Given the description of an element on the screen output the (x, y) to click on. 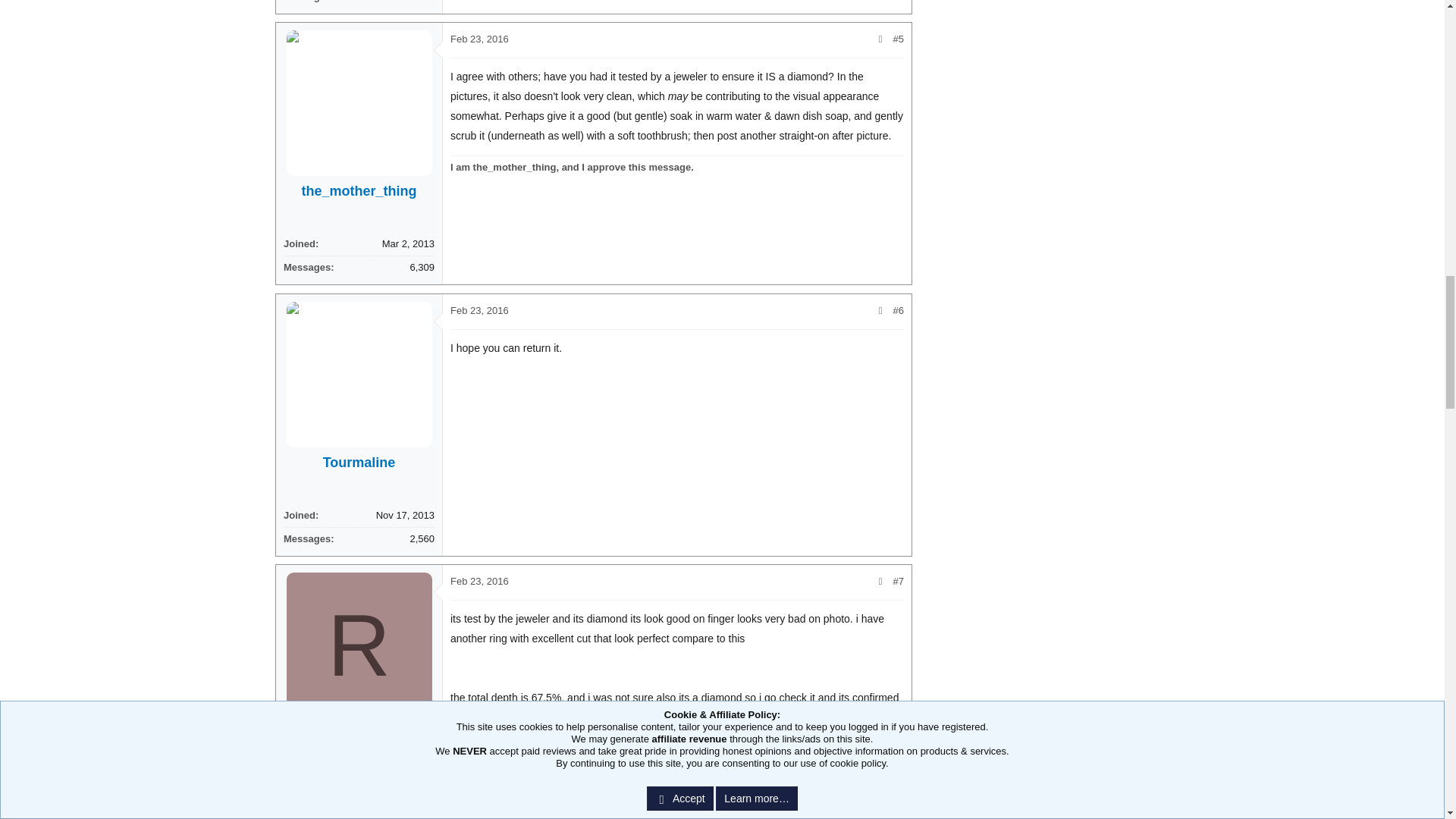
Feb 23, 2016 at 8:01 AM (478, 310)
Feb 23, 2016 at 8:02 AM (478, 581)
Feb 23, 2016 at 7:56 AM (478, 39)
